Given the description of an element on the screen output the (x, y) to click on. 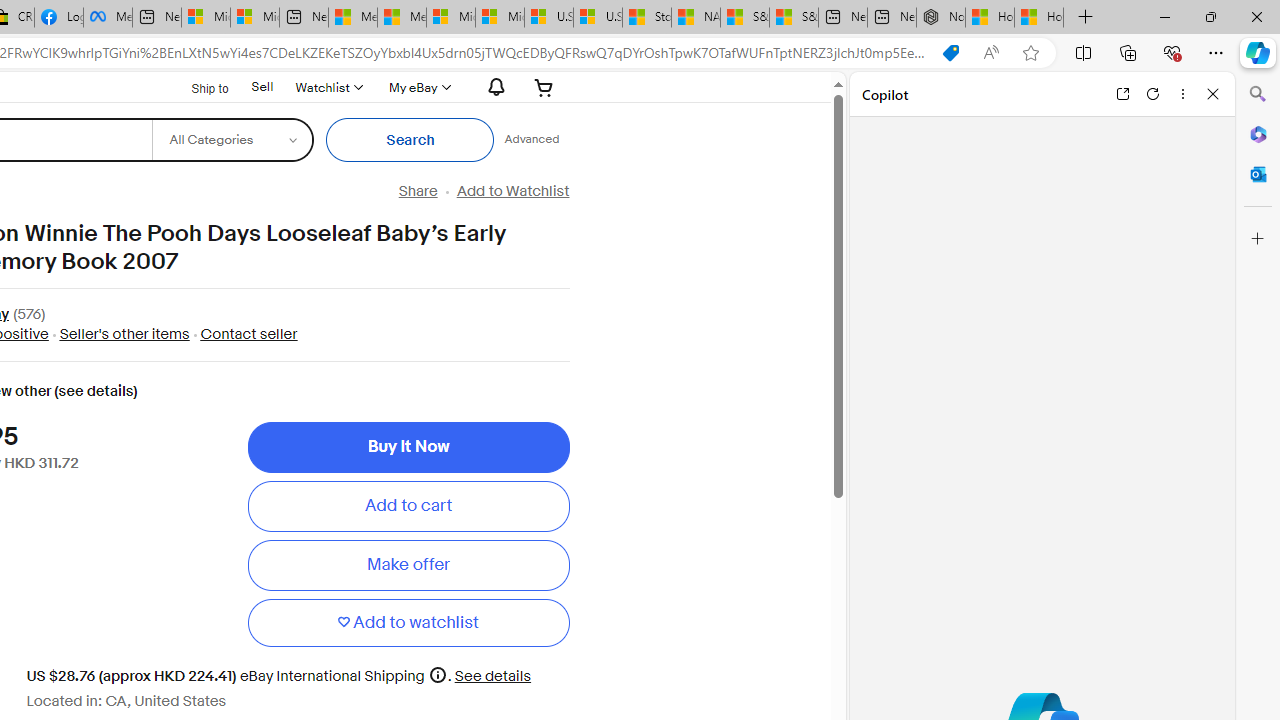
Make offer (408, 565)
Your shopping cart (543, 87)
Buy It Now (408, 447)
Ship to (197, 88)
Sell (262, 86)
Buy It Now (408, 447)
Contact seller (248, 334)
Watchlist (328, 87)
Add to watchlist (408, 622)
Add to cart (408, 506)
